Given the description of an element on the screen output the (x, y) to click on. 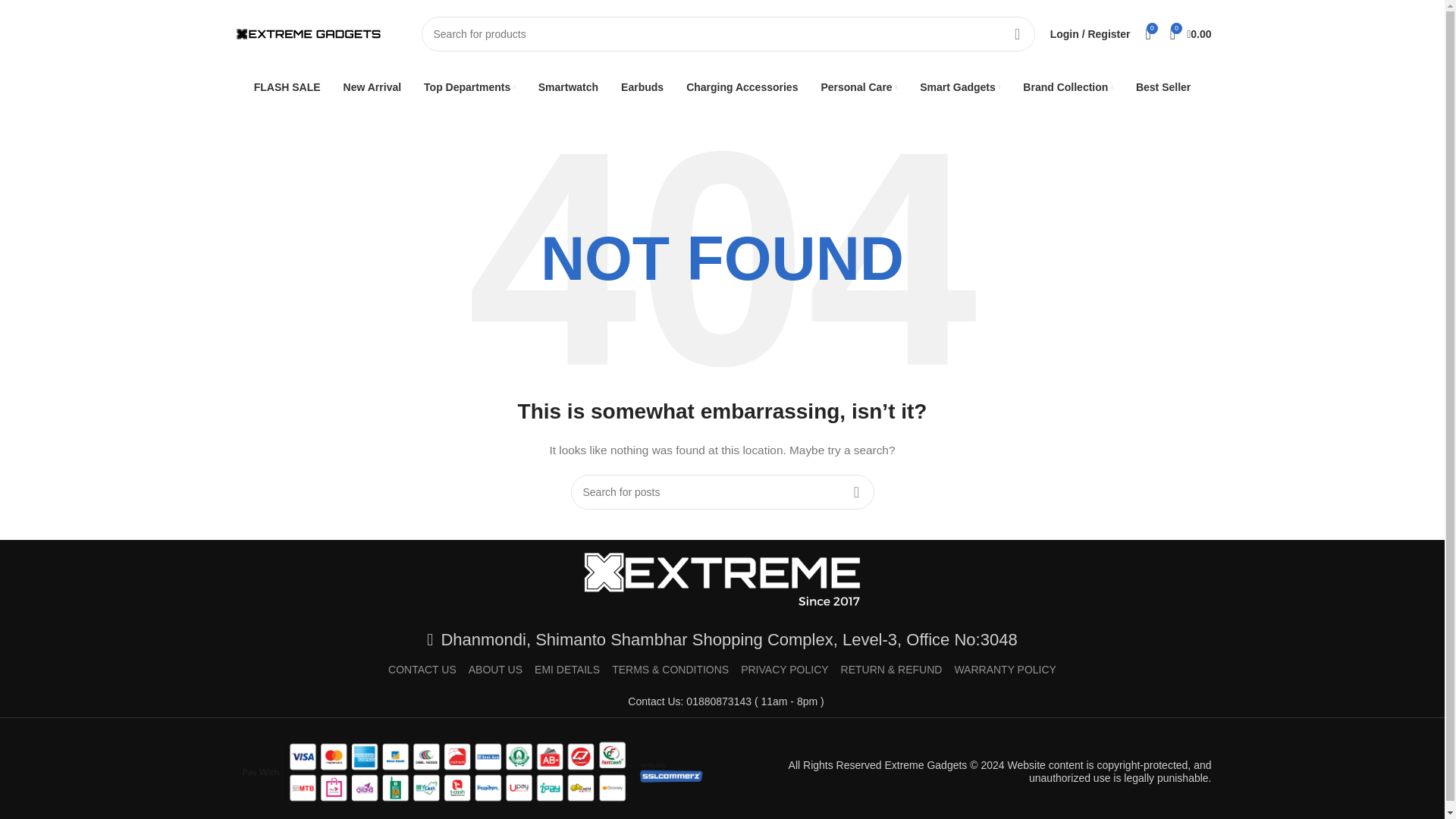
New Arrival (372, 87)
Search for posts (721, 492)
Shopping cart (1190, 33)
SEARCH (1017, 33)
Smartwatch (568, 87)
Smart Gadgets (960, 87)
Top Departments (469, 87)
Personal Care (858, 87)
Earbuds (642, 87)
Charging Accessories (741, 87)
My account (1090, 33)
Search for products (728, 33)
FLASH SALE (286, 87)
